Given the description of an element on the screen output the (x, y) to click on. 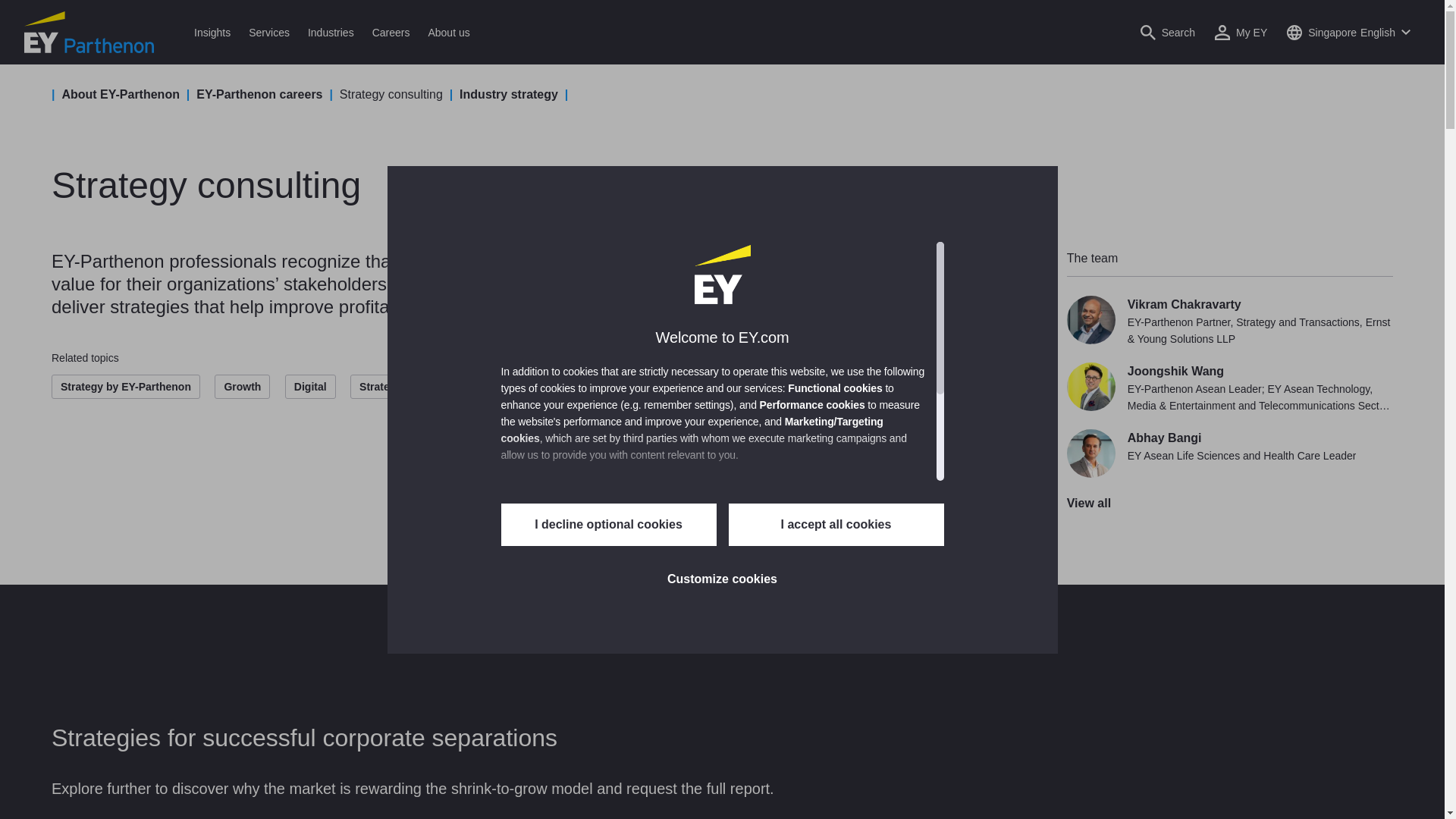
Open search (1167, 32)
EY Parthenon Home Page (89, 32)
Open country language switcher (1347, 32)
My EY (1241, 32)
